Given the description of an element on the screen output the (x, y) to click on. 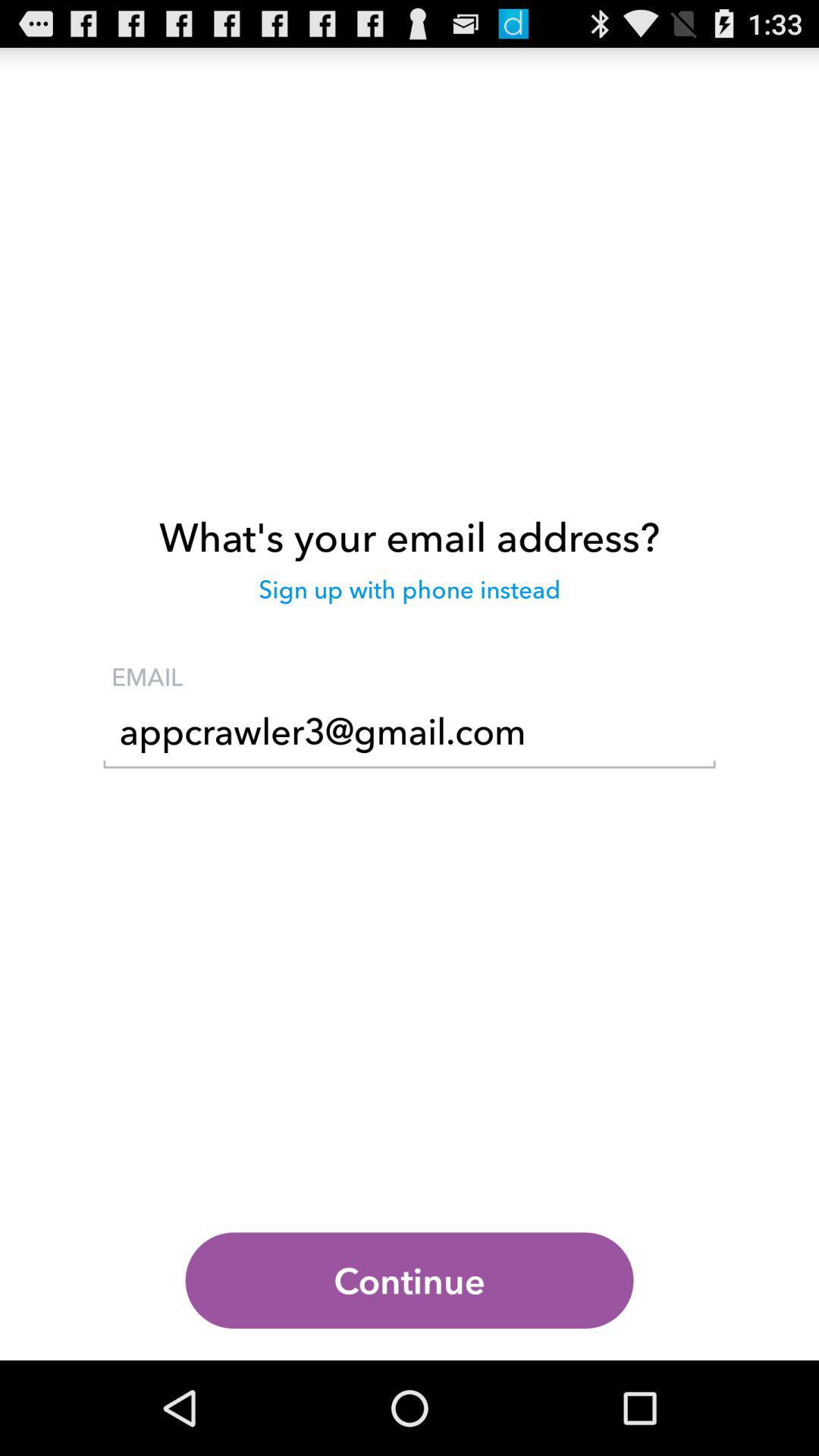
turn off appcrawler3@gmail.com icon (409, 736)
